Given the description of an element on the screen output the (x, y) to click on. 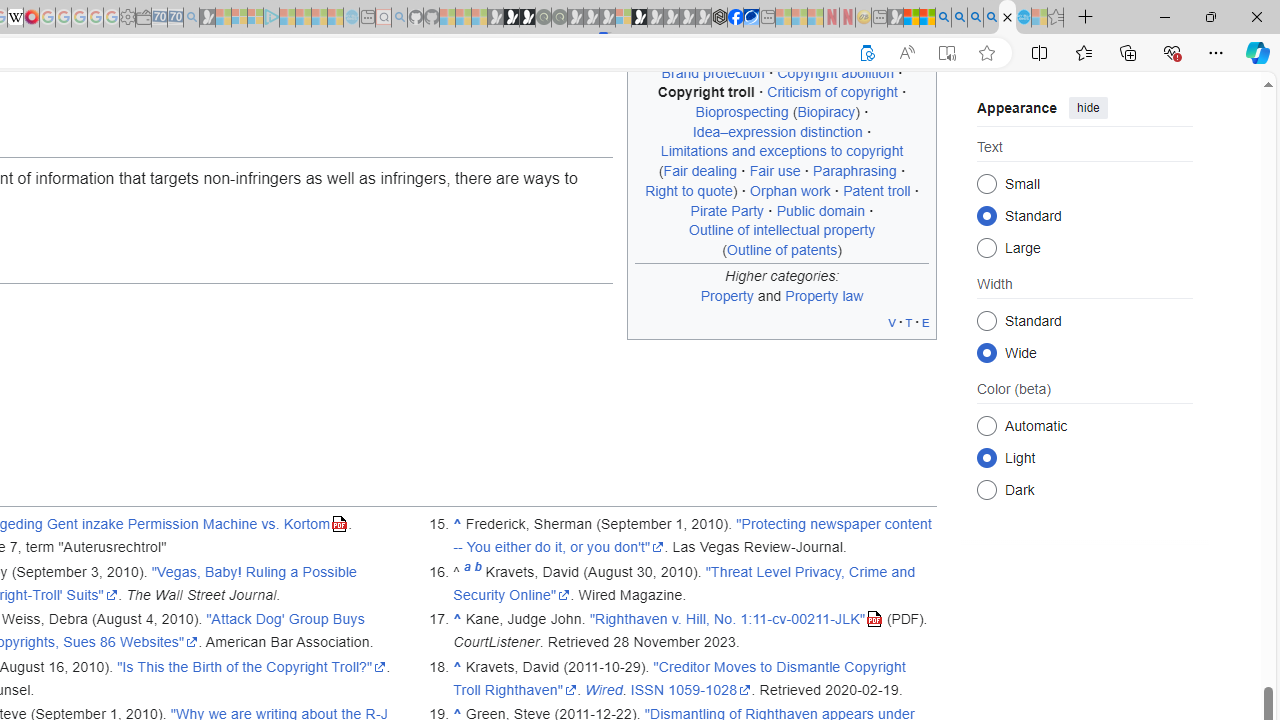
2009 Bing officially replaced Live Search on June 3 - Search (959, 17)
b (477, 571)
Criticism of copyright (832, 92)
Light (986, 457)
Favorites - Sleeping (1055, 17)
(Biopiracy) (826, 111)
Small (986, 182)
Standard (986, 320)
Outline of intellectual property (781, 230)
